Given the description of an element on the screen output the (x, y) to click on. 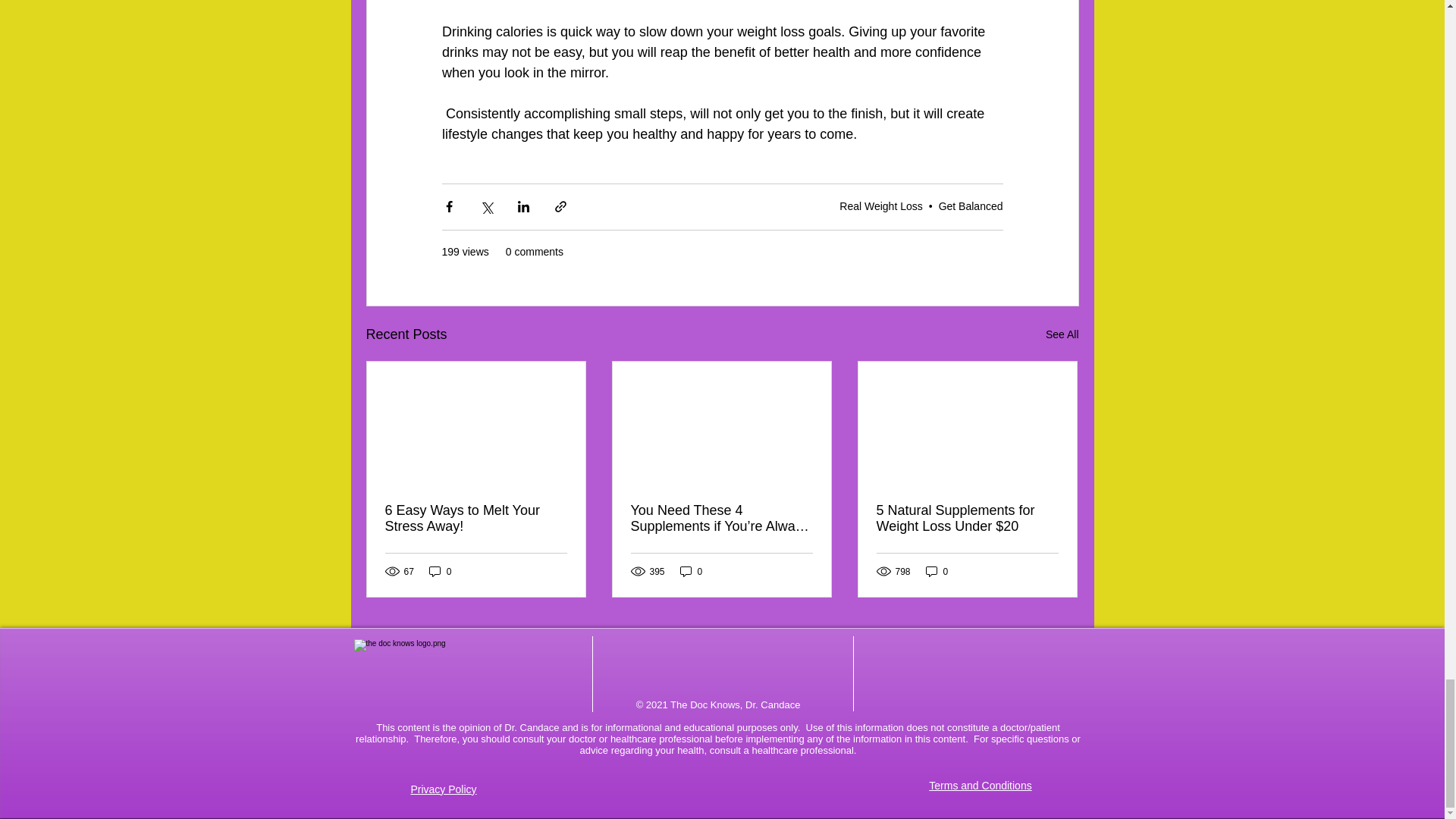
Terms and Conditions (979, 785)
0 (937, 571)
0 (691, 571)
6 Easy Ways to Melt Your Stress Away! (476, 518)
0 (440, 571)
Get Balanced (971, 205)
Real Weight Loss (880, 205)
See All (1061, 334)
Privacy Policy (443, 788)
